Given the description of an element on the screen output the (x, y) to click on. 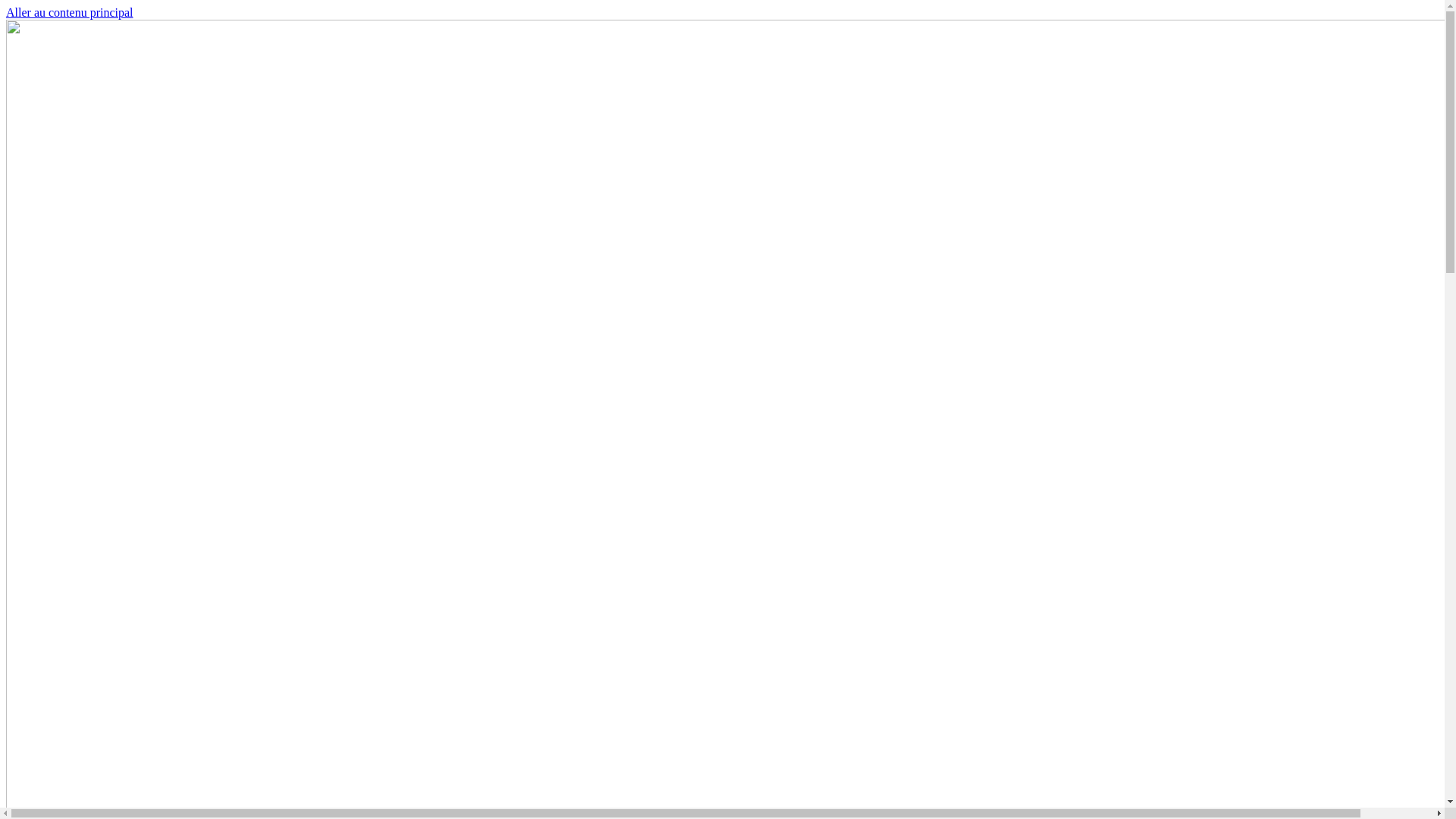
Aller au contenu principal Element type: text (69, 12)
